Given the description of an element on the screen output the (x, y) to click on. 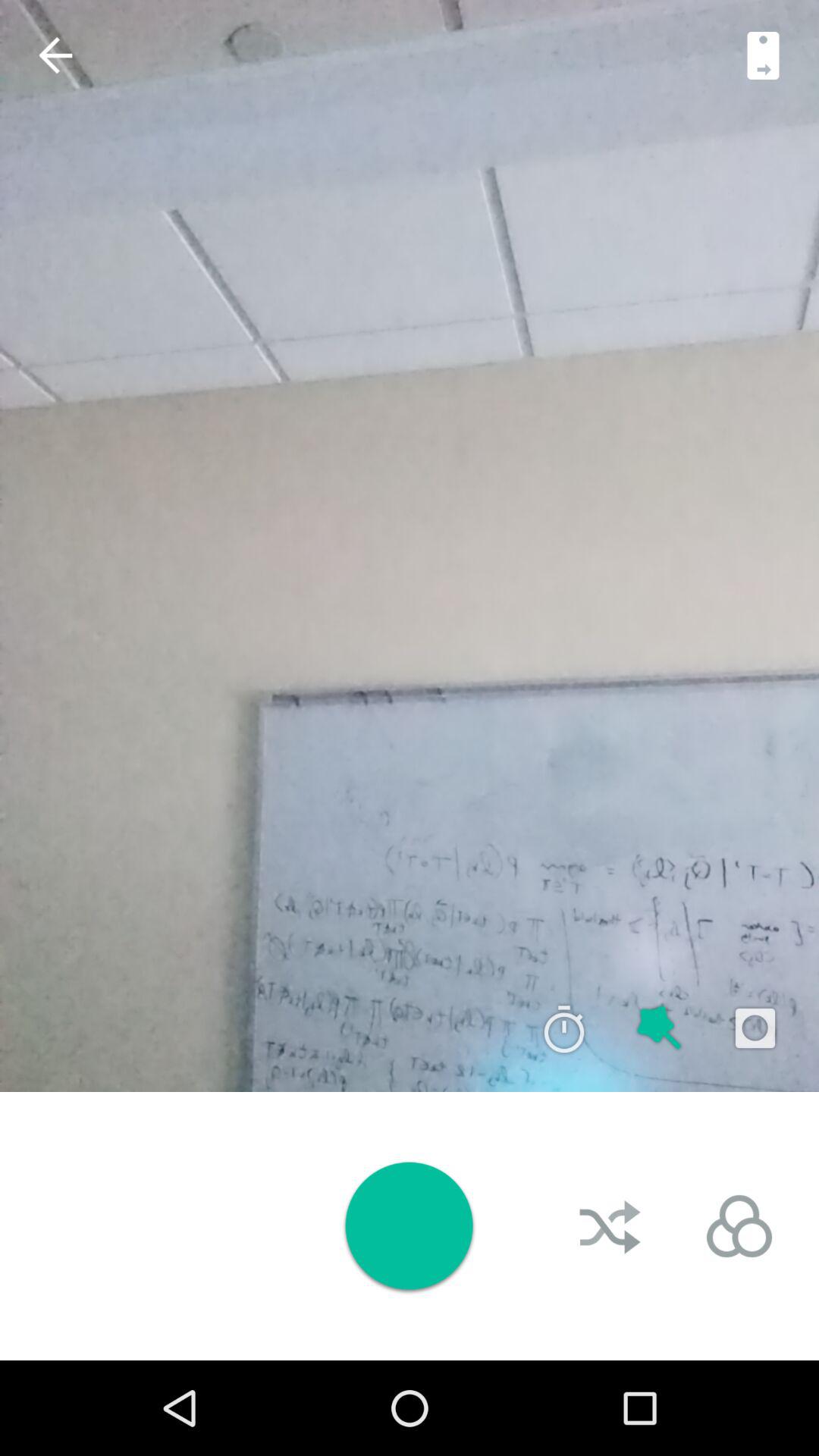
click to adjust zoom level (763, 55)
